Given the description of an element on the screen output the (x, y) to click on. 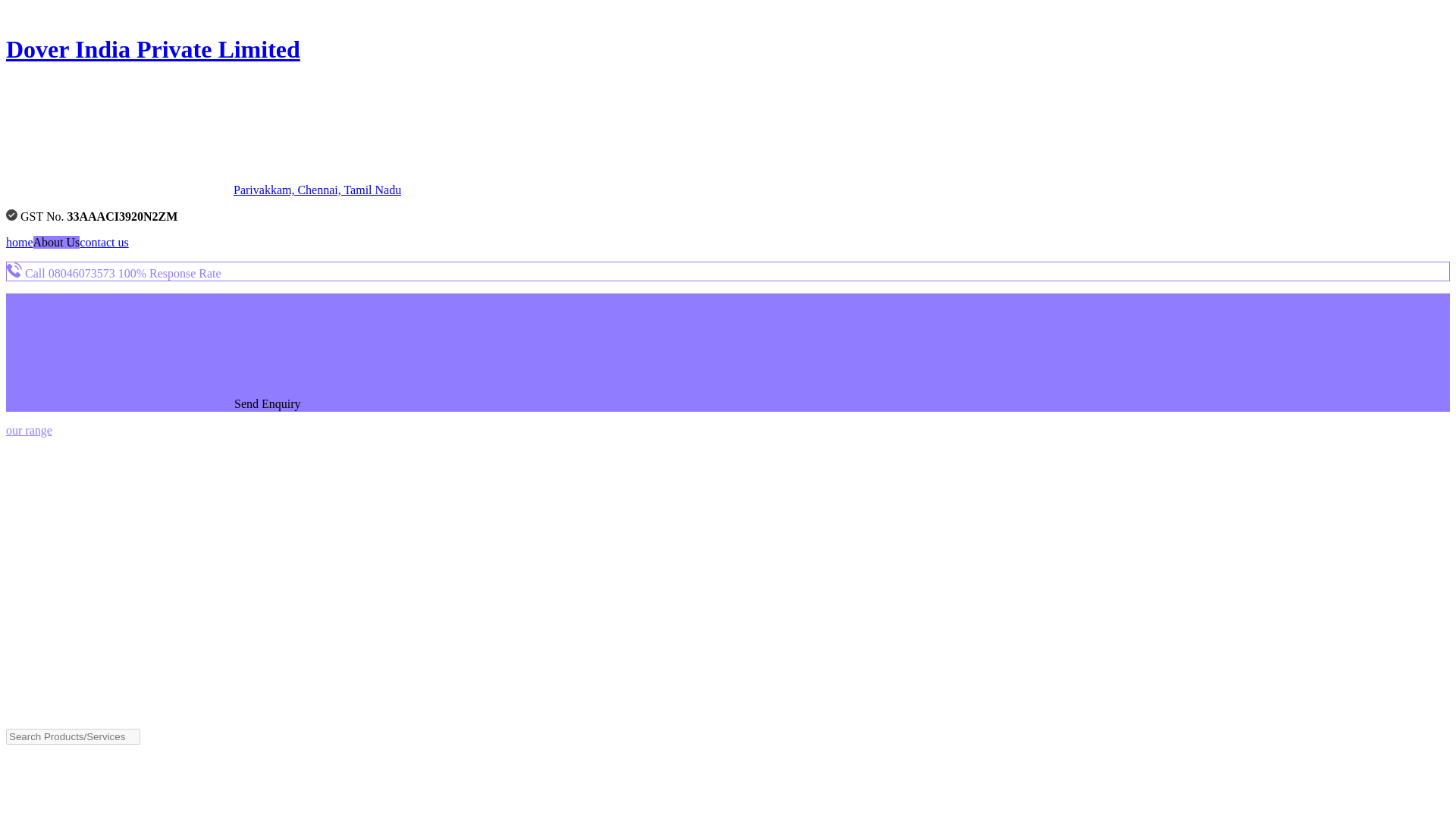
contact us (104, 241)
our range (28, 430)
home (19, 241)
